Given the description of an element on the screen output the (x, y) to click on. 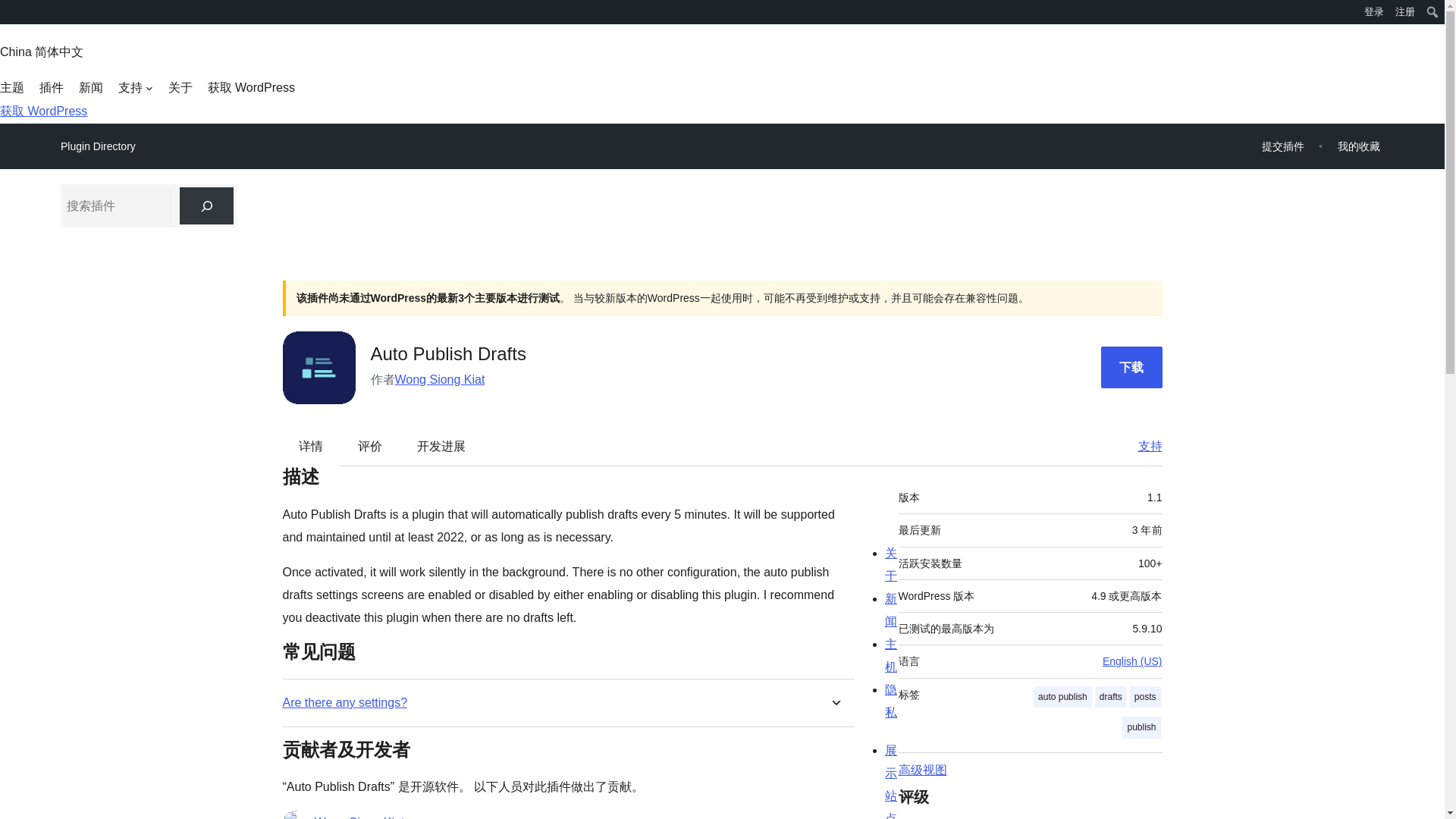
WordPress.org (10, 10)
WordPress.org (10, 16)
Wong Siong Kiat (439, 379)
Wong Siong Kiat (359, 815)
Plugin Directory (97, 146)
Are there any settings? (344, 702)
